Given the description of an element on the screen output the (x, y) to click on. 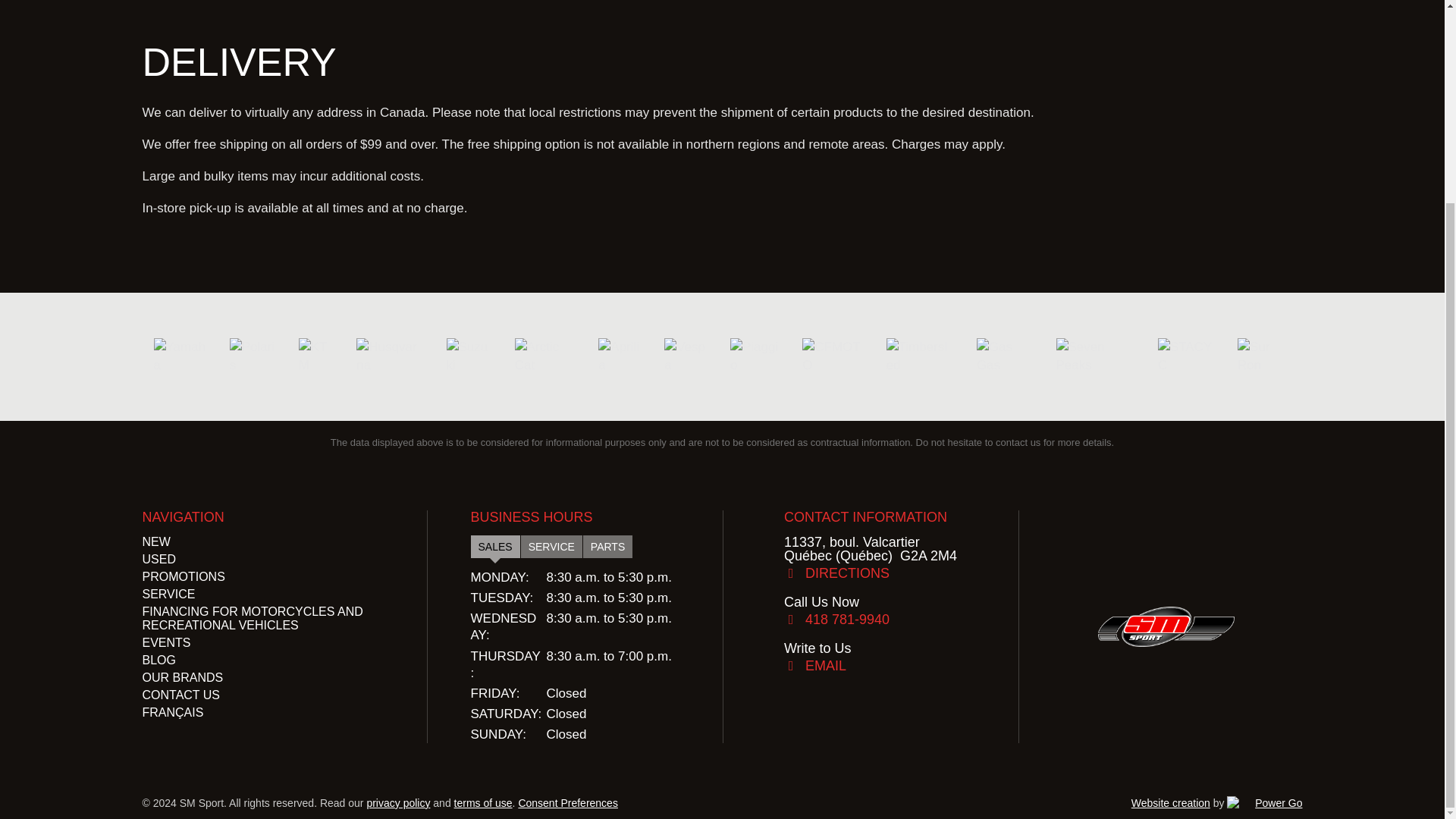
Arctic Cat (545, 356)
KTM (316, 356)
Suzuki (469, 356)
Piaggio (754, 356)
Polaris (253, 356)
Aprilia (620, 356)
Husqvarna (389, 356)
Vespa (685, 356)
Yamaha (179, 356)
